Given the description of an element on the screen output the (x, y) to click on. 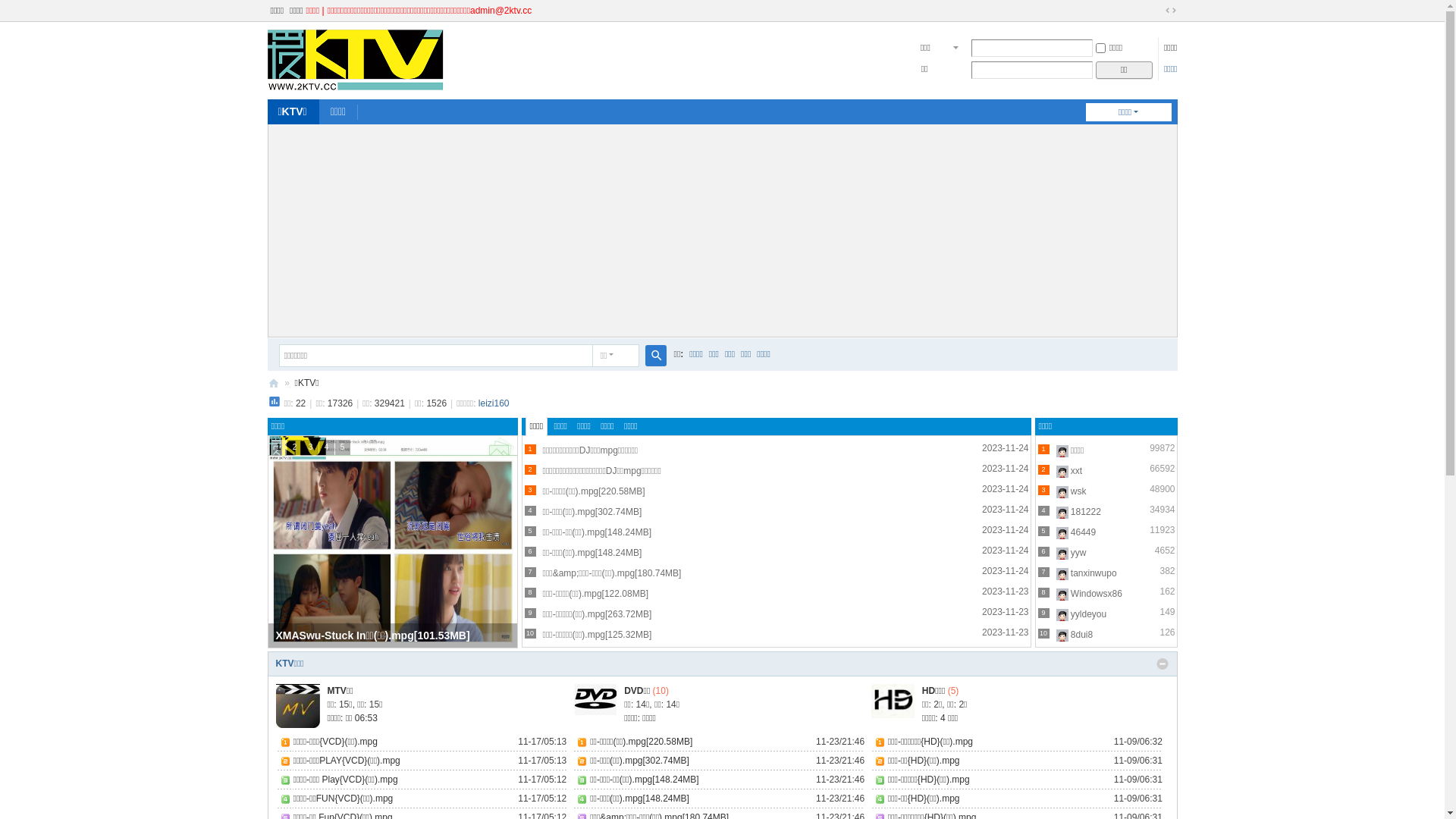
Advertisement Element type: hover (722, 230)
181222 Element type: text (1085, 511)
xxt Element type: text (1076, 470)
2023-11-24 Element type: text (1005, 529)
2023-11-24 Element type: text (1005, 550)
wsk Element type: text (1078, 491)
2023-11-24 Element type: text (1005, 570)
46449 Element type: text (1082, 532)
2023-11-24 Element type: text (1005, 488)
2023-11-23 Element type: text (1005, 591)
yyw Element type: text (1078, 552)
tanxinwupo Element type: text (1093, 572)
leizi160 Element type: text (493, 403)
2023-11-23 Element type: text (1005, 632)
Windowsx86 Element type: text (1096, 593)
true Element type: text (654, 354)
2023-11-24 Element type: text (1005, 509)
8dui8 Element type: text (1081, 634)
2023-11-24 Element type: text (1005, 468)
yyldeyou Element type: text (1088, 613)
2023-11-24 Element type: text (1005, 447)
2023-11-23 Element type: text (1005, 611)
